Given the description of an element on the screen output the (x, y) to click on. 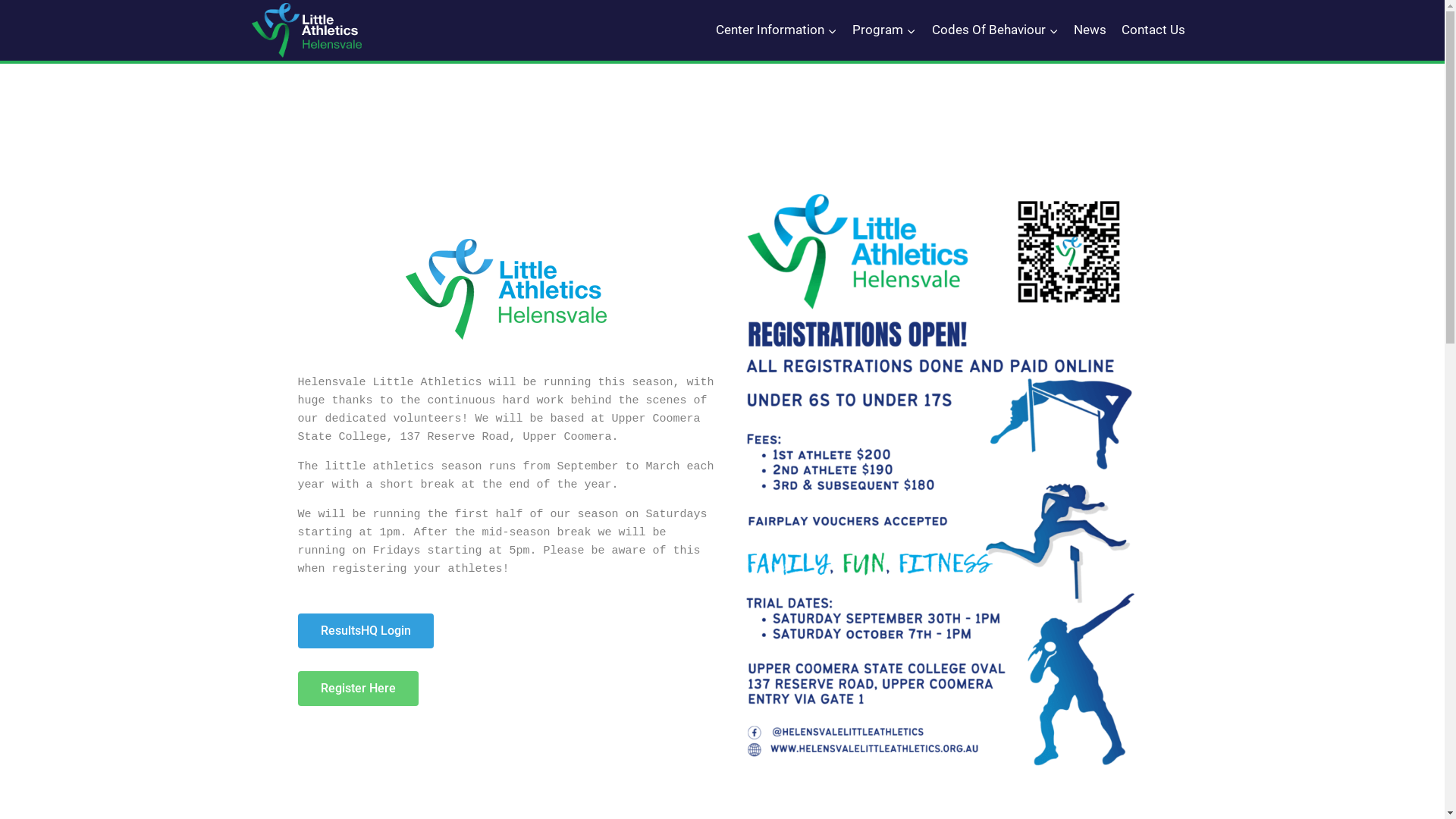
Program Element type: text (883, 30)
Contact Us Element type: text (1152, 30)
ResultsHQ Login Element type: text (365, 630)
Center Information Element type: text (776, 30)
Register Here Element type: text (357, 688)
Codes Of Behaviour Element type: text (994, 30)
News Element type: text (1089, 30)
